Given the description of an element on the screen output the (x, y) to click on. 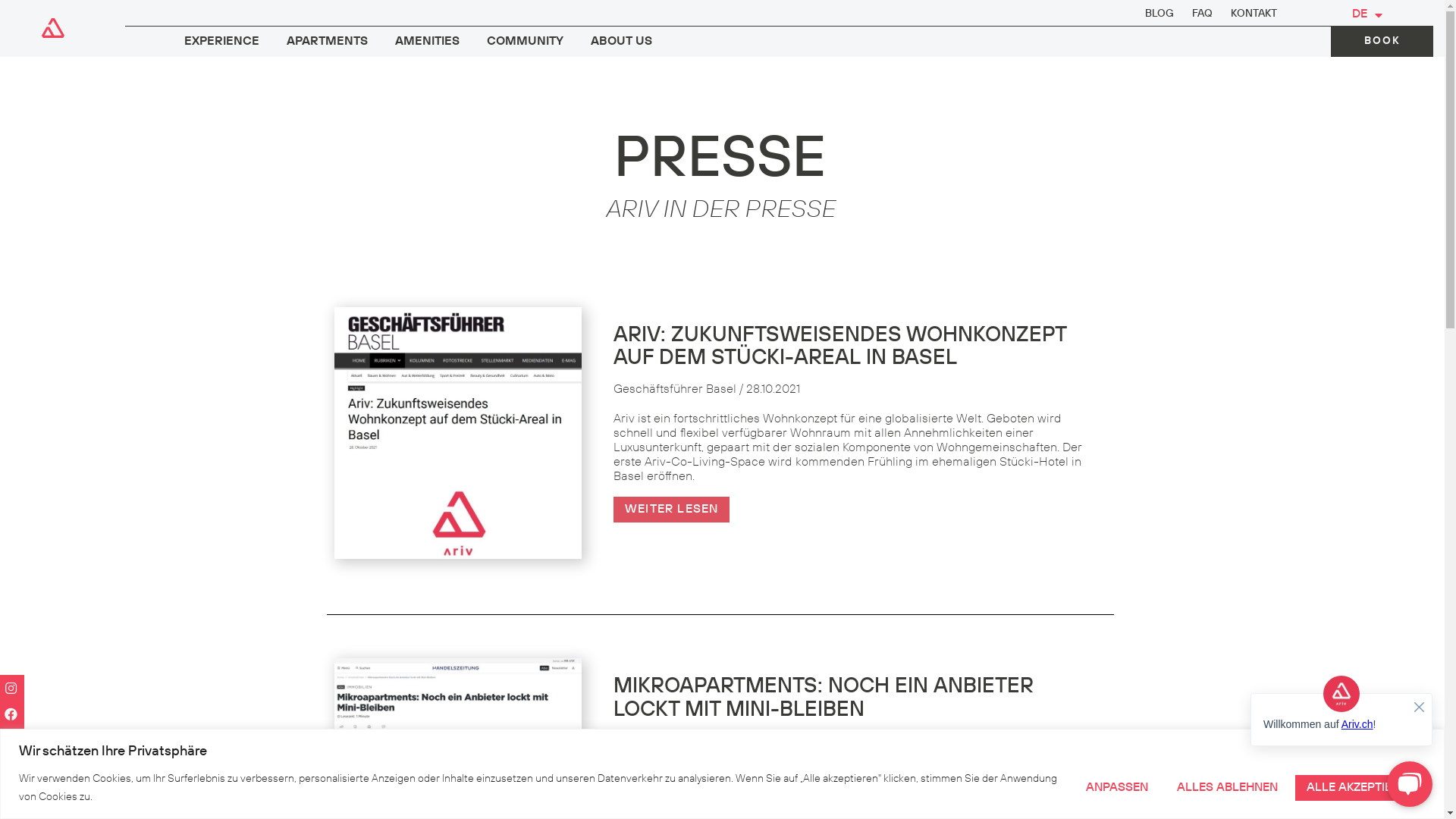
COMMUNITY Element type: text (524, 42)
ALLE AKZEPTIEREN Element type: text (1360, 787)
APARTMENTS Element type: text (327, 42)
ABOUT US Element type: text (621, 42)
BOOK Element type: text (1381, 40)
KONTAKT Element type: text (1253, 13)
WEITER LESEN Element type: text (671, 509)
DE Element type: text (1367, 14)
FAQ Element type: text (1202, 13)
ALLES ABLEHNEN Element type: text (1227, 787)
ANPASSEN Element type: text (1116, 787)
AMENITIES Element type: text (426, 42)
EXPERIENCE Element type: text (221, 42)
BLOG Element type: text (1159, 13)
